Given the description of an element on the screen output the (x, y) to click on. 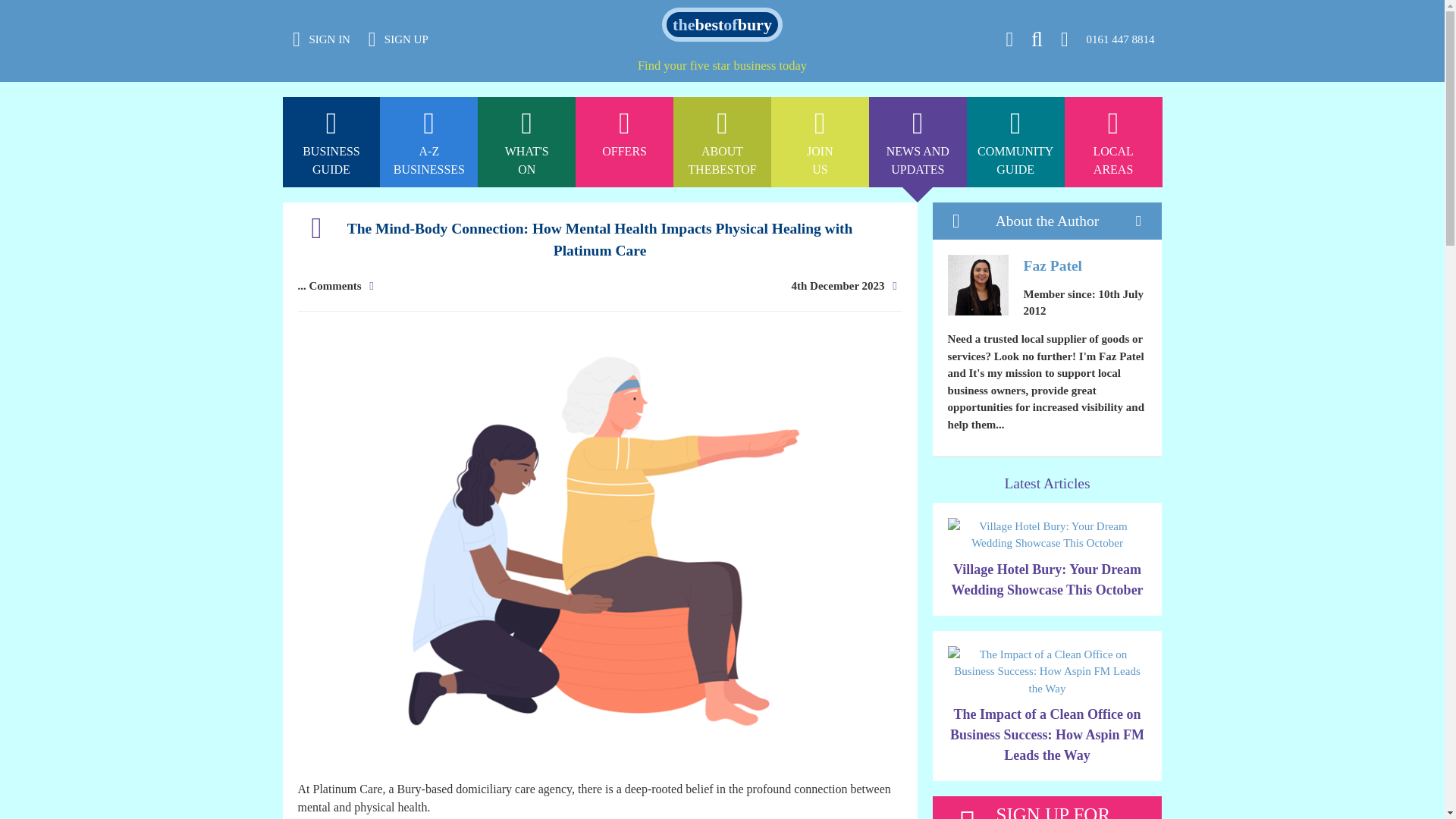
OFFERS (428, 7)
SIGN UP (820, 7)
thebestofbury (623, 142)
